Given the description of an element on the screen output the (x, y) to click on. 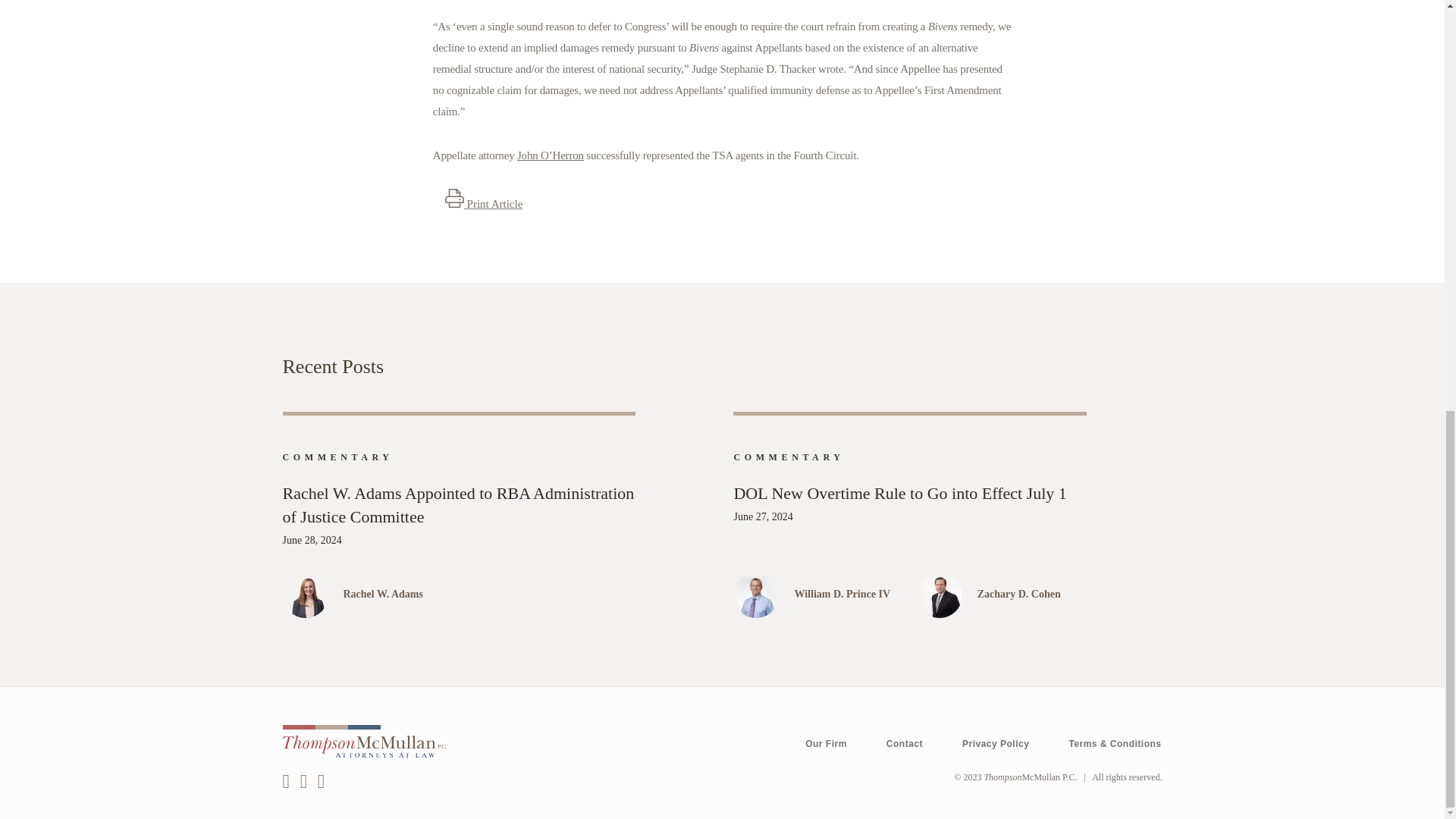
COMMENTARY (337, 456)
COMMENTARY (788, 456)
William D. Prince IV (854, 594)
DOL New Overtime Rule to Go into Effect July 1 (909, 494)
Our Firm (826, 744)
Print Article (483, 203)
Rachel W. Adams (488, 594)
Zachary D. Cohen (1031, 594)
Go to Homepage (1030, 777)
